Given the description of an element on the screen output the (x, y) to click on. 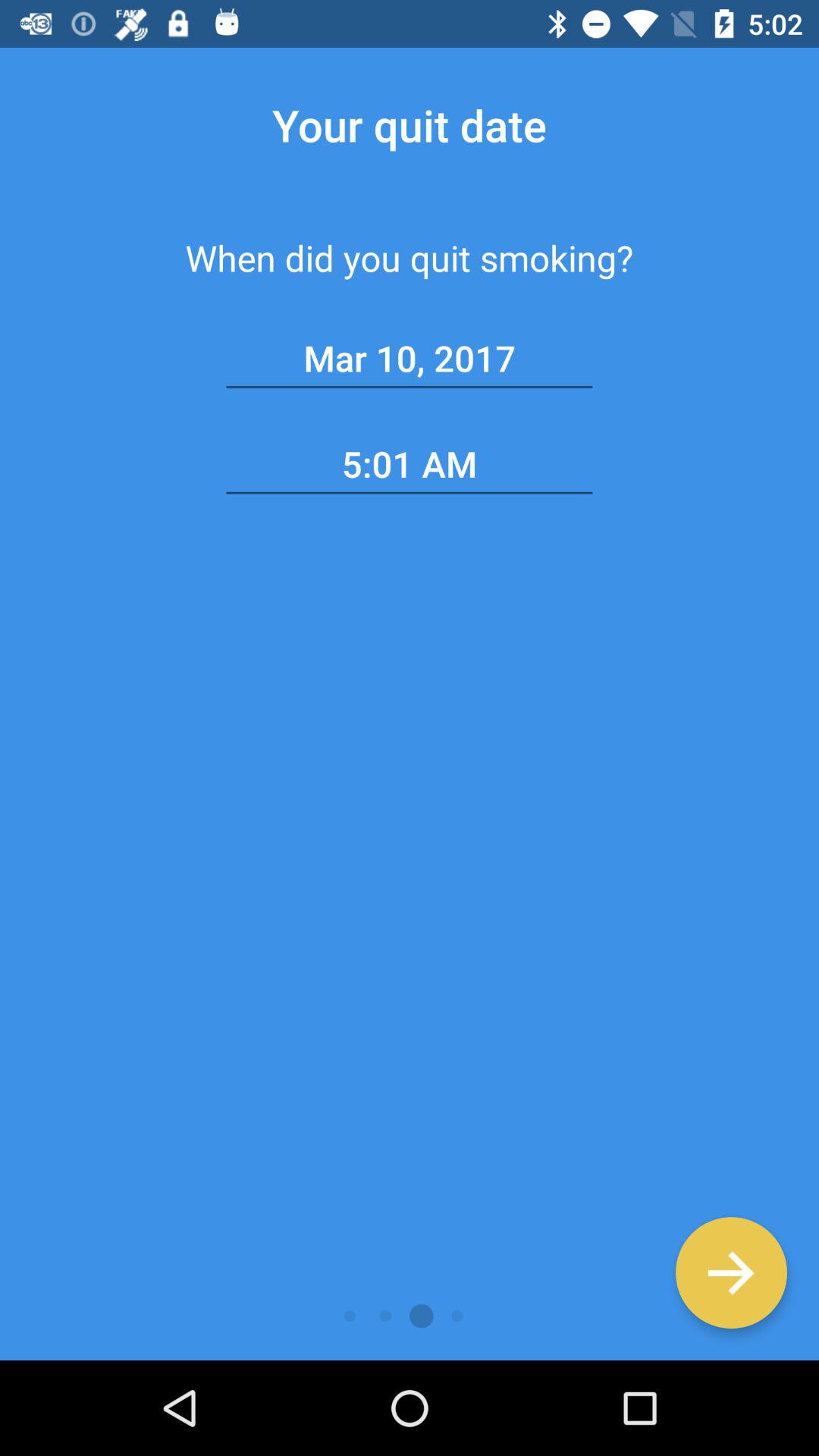
turn off item below when did you icon (409, 358)
